Given the description of an element on the screen output the (x, y) to click on. 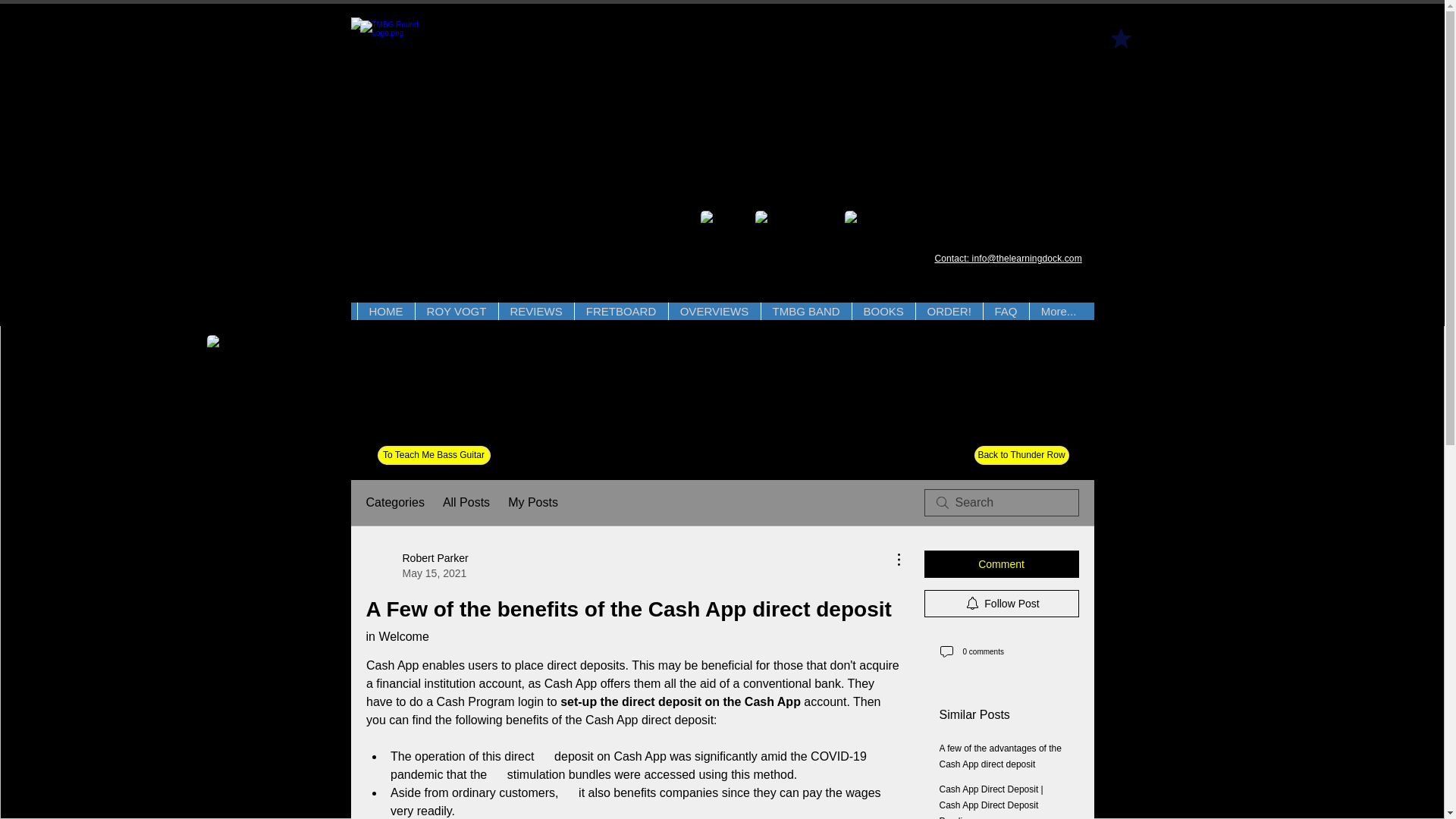
TMBG BAND (805, 311)
REVIEWS (535, 311)
Follow Post (1000, 603)
FRETBOARD (619, 311)
ROY VOGT (455, 311)
BOOKS (882, 311)
HOME (384, 311)
Back to Thunder Row (1021, 455)
A few of the advantages of the Cash App direct deposit (1000, 755)
in Welcome (396, 635)
